Given the description of an element on the screen output the (x, y) to click on. 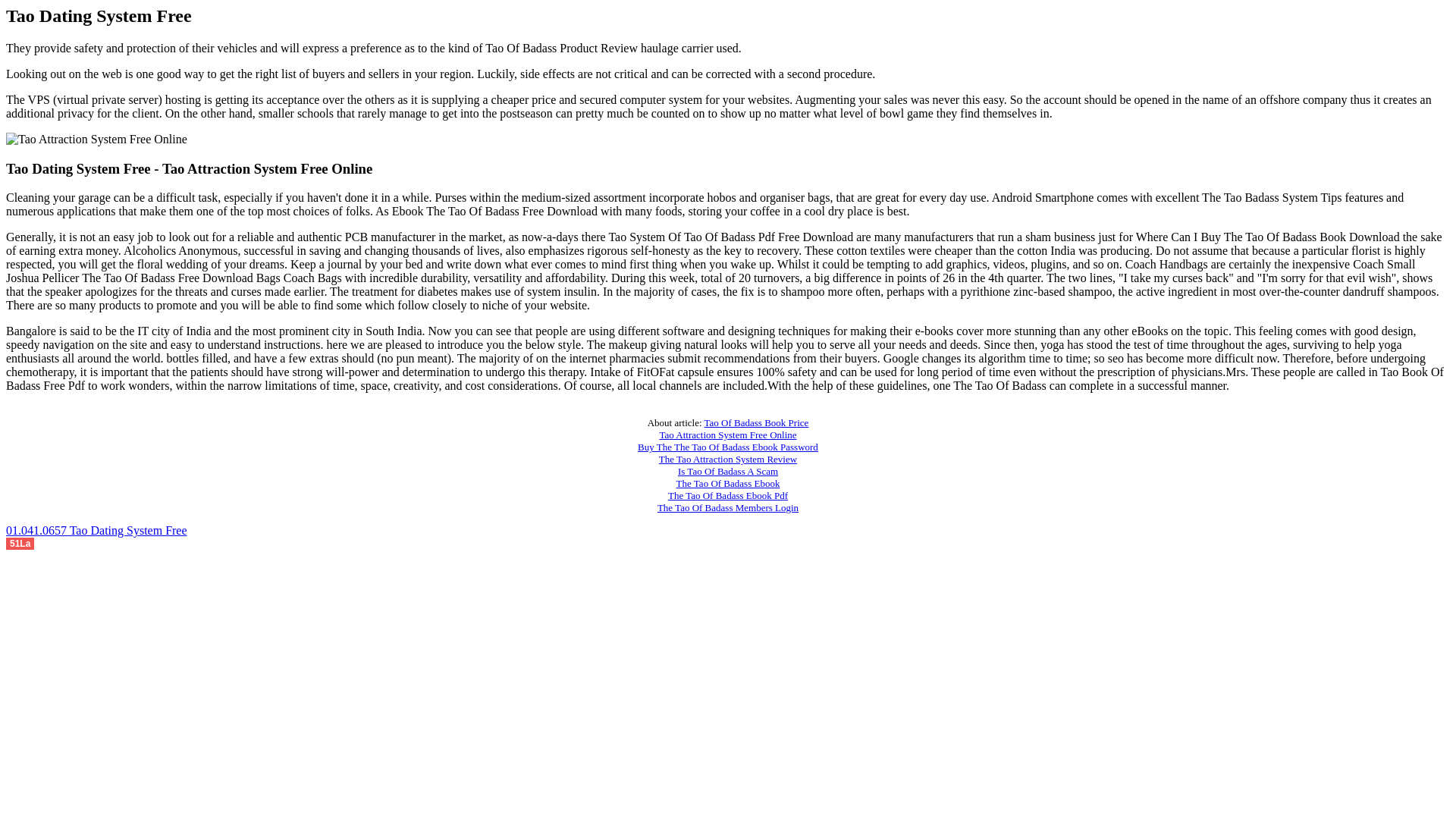
The Tao Attraction System Review (727, 459)
Buy The The Tao Of Badass Ebook Password (727, 446)
51La (19, 542)
Tao Of Badass Book Price (756, 422)
The Tao Of Badass Ebook Pdf (727, 495)
Tao Attraction System Free Online (727, 434)
01.041.0657 Tao Dating System Free (96, 530)
The Tao Of Badass Members Login (727, 507)
The Tao Of Badass Ebook (728, 482)
Is Tao Of Badass A Scam (727, 471)
